Given the description of an element on the screen output the (x, y) to click on. 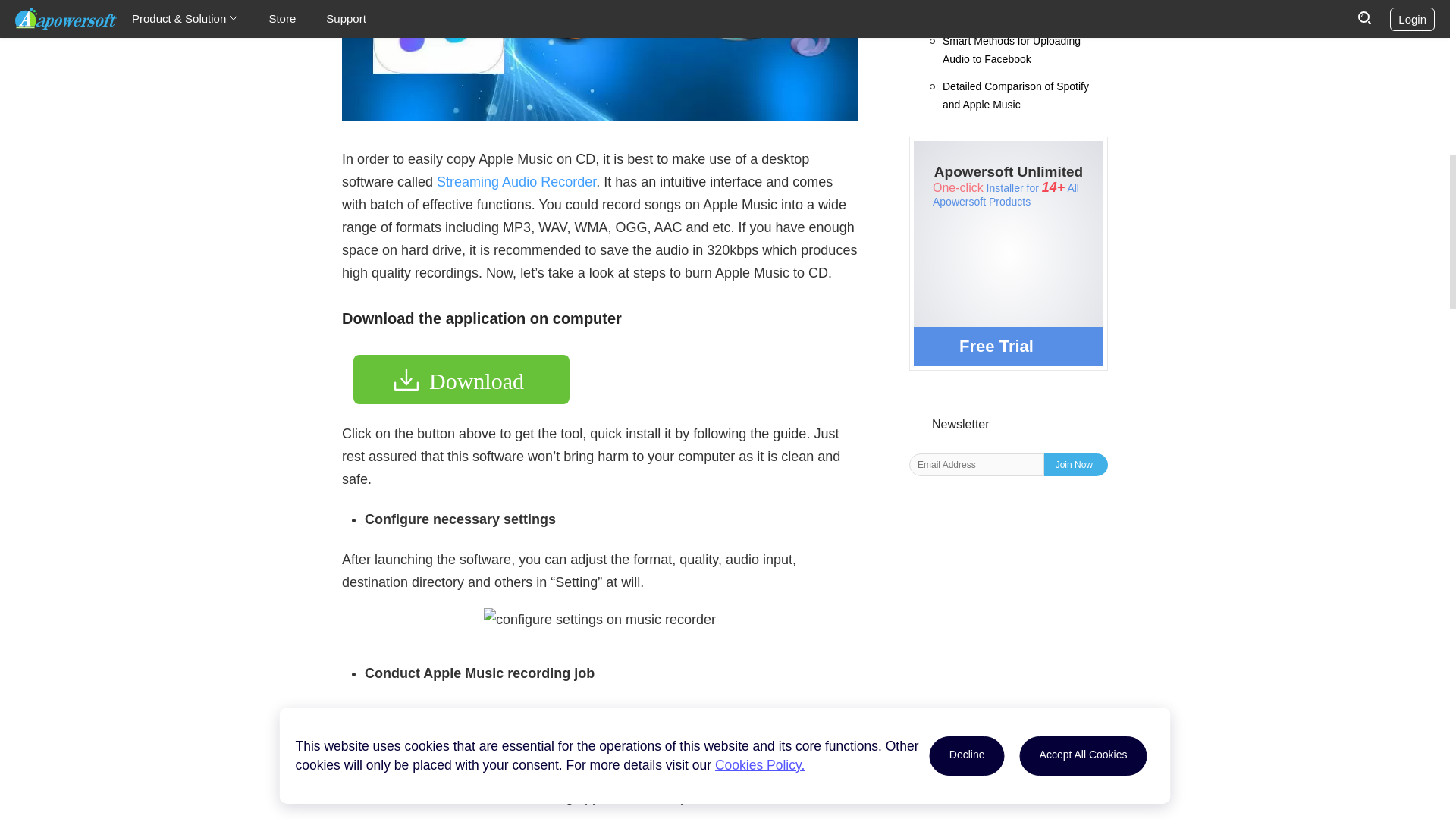
Detailed Comparison of Spotify and Apple Music (1025, 94)
Smart Methods for Uploading Audio to Facebook (1025, 49)
